Given the description of an element on the screen output the (x, y) to click on. 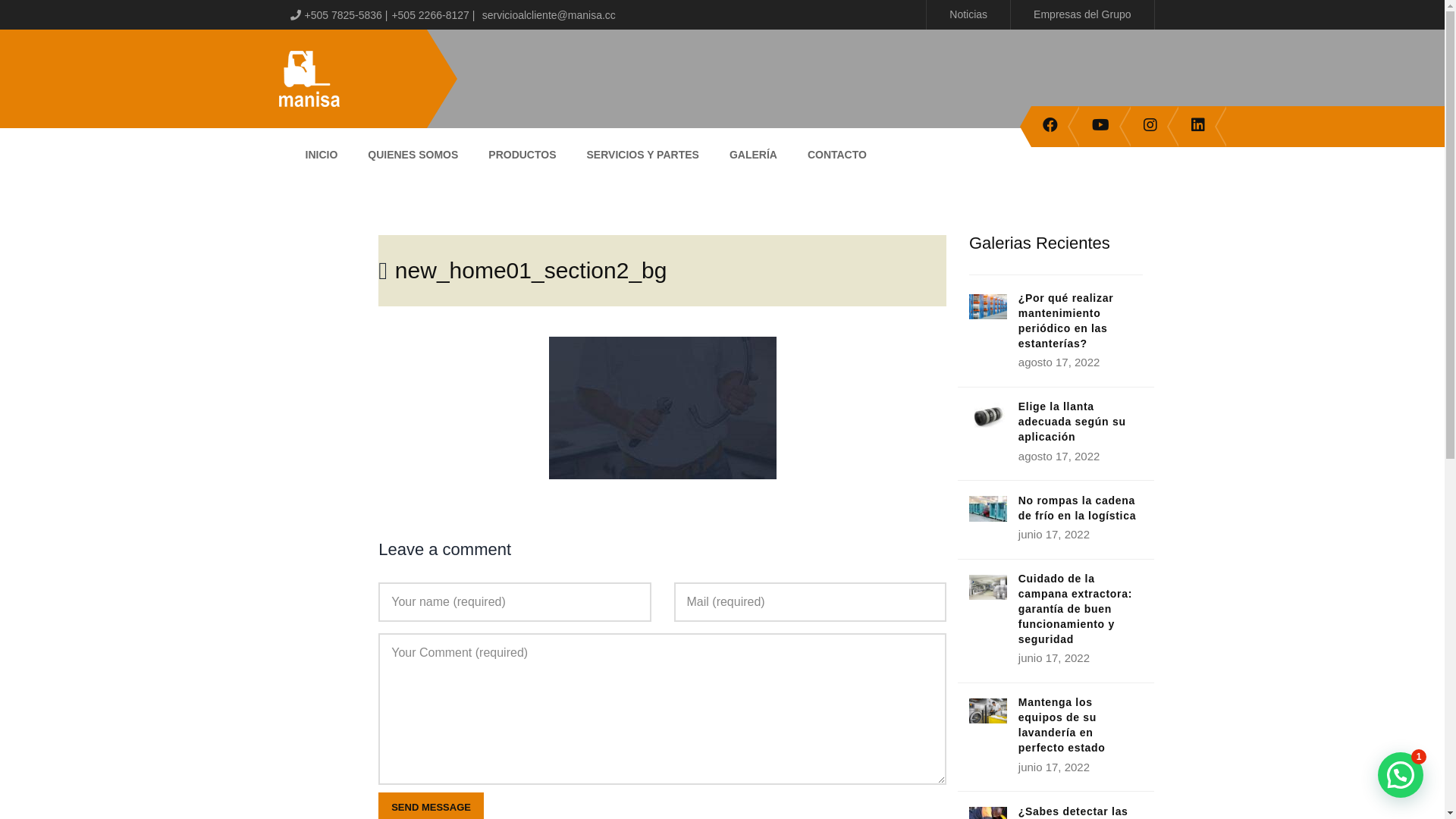
servicioalcliente@manisa.cc Element type: text (548, 15)
new_home01_section2_bg Element type: text (531, 269)
INICIO Element type: text (320, 153)
+505 2266-8127 | Element type: text (432, 15)
PRODUCTOS Element type: text (522, 153)
Noticias Element type: text (968, 14)
+505 7825-5836 | Element type: text (346, 15)
QUIENES SOMOS Element type: text (412, 153)
Empresas del Grupo Element type: text (1081, 14)
SERVICIOS Y PARTES Element type: text (642, 153)
CONTACTO Element type: text (836, 153)
